Given the description of an element on the screen output the (x, y) to click on. 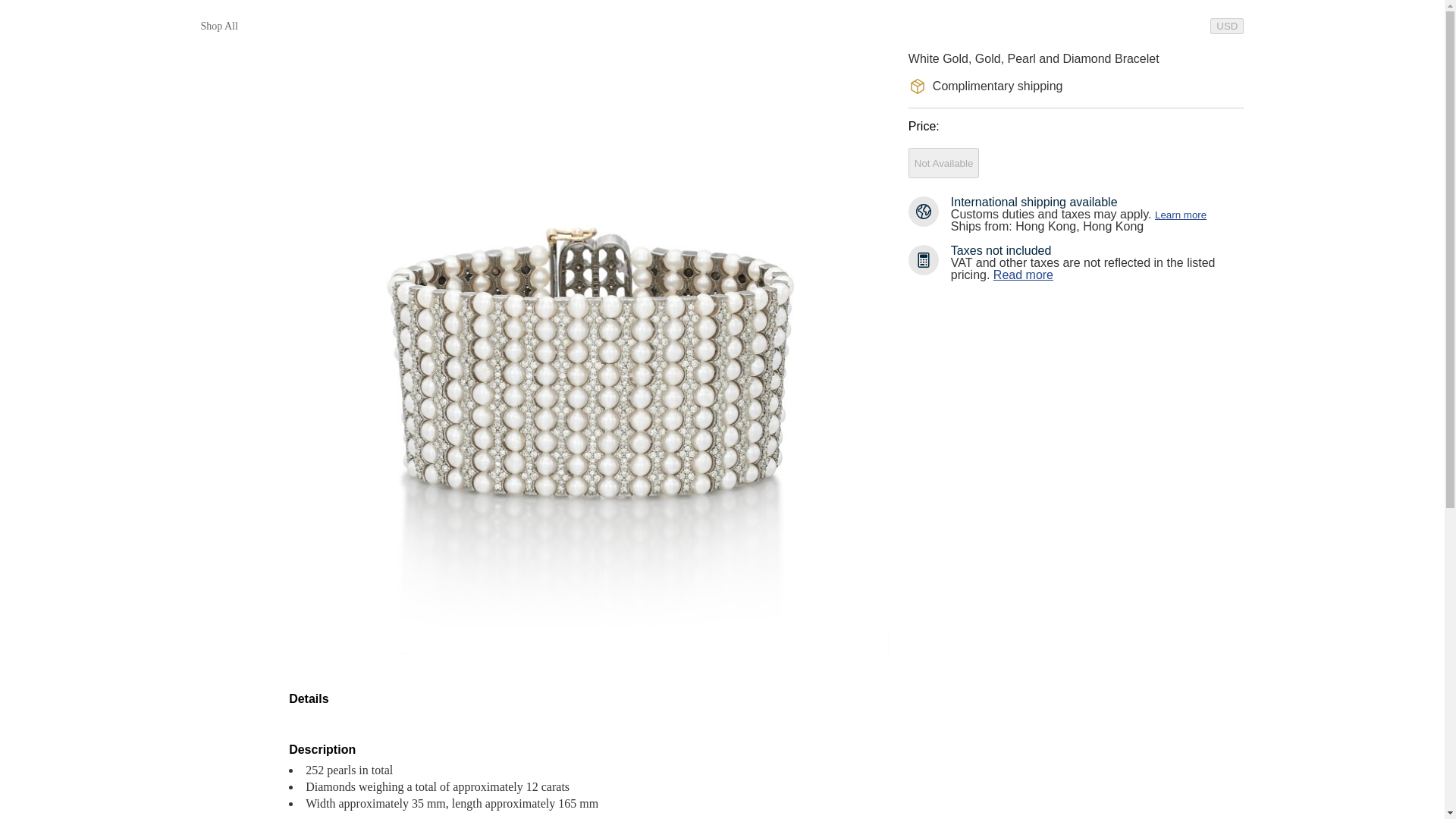
Learn more (1180, 214)
Read more (1022, 274)
Shop All (218, 25)
Not Available (943, 163)
USD (1226, 26)
